Given the description of an element on the screen output the (x, y) to click on. 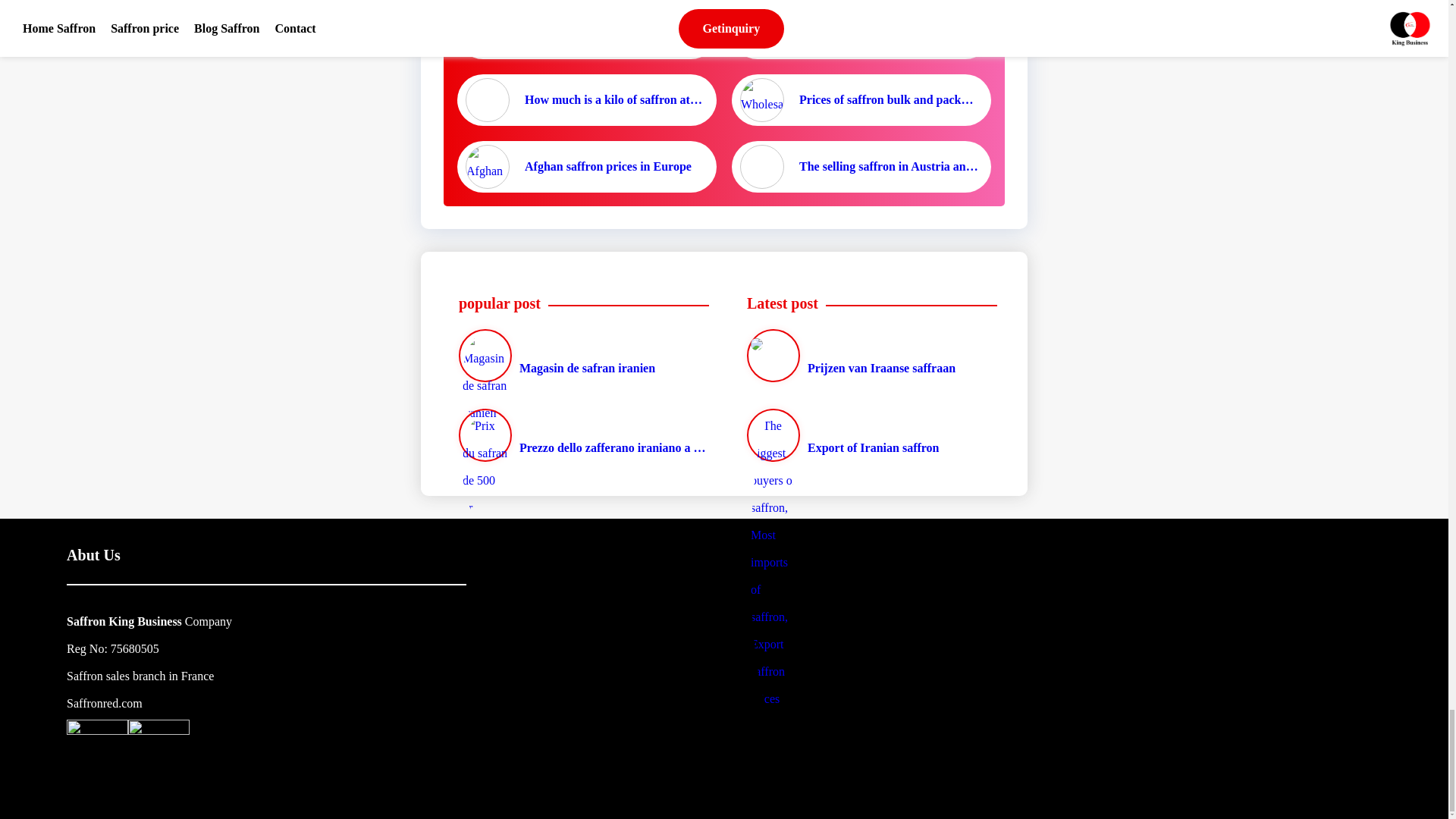
Export of saffron to Saudi Arabia (587, 33)
Export of Iranian saffron (868, 435)
Prezzo dello zafferano iraniano a novembre (580, 435)
Prijzen van Iraanse saffraan (868, 355)
Magasin de safran iranien (580, 355)
